Given the description of an element on the screen output the (x, y) to click on. 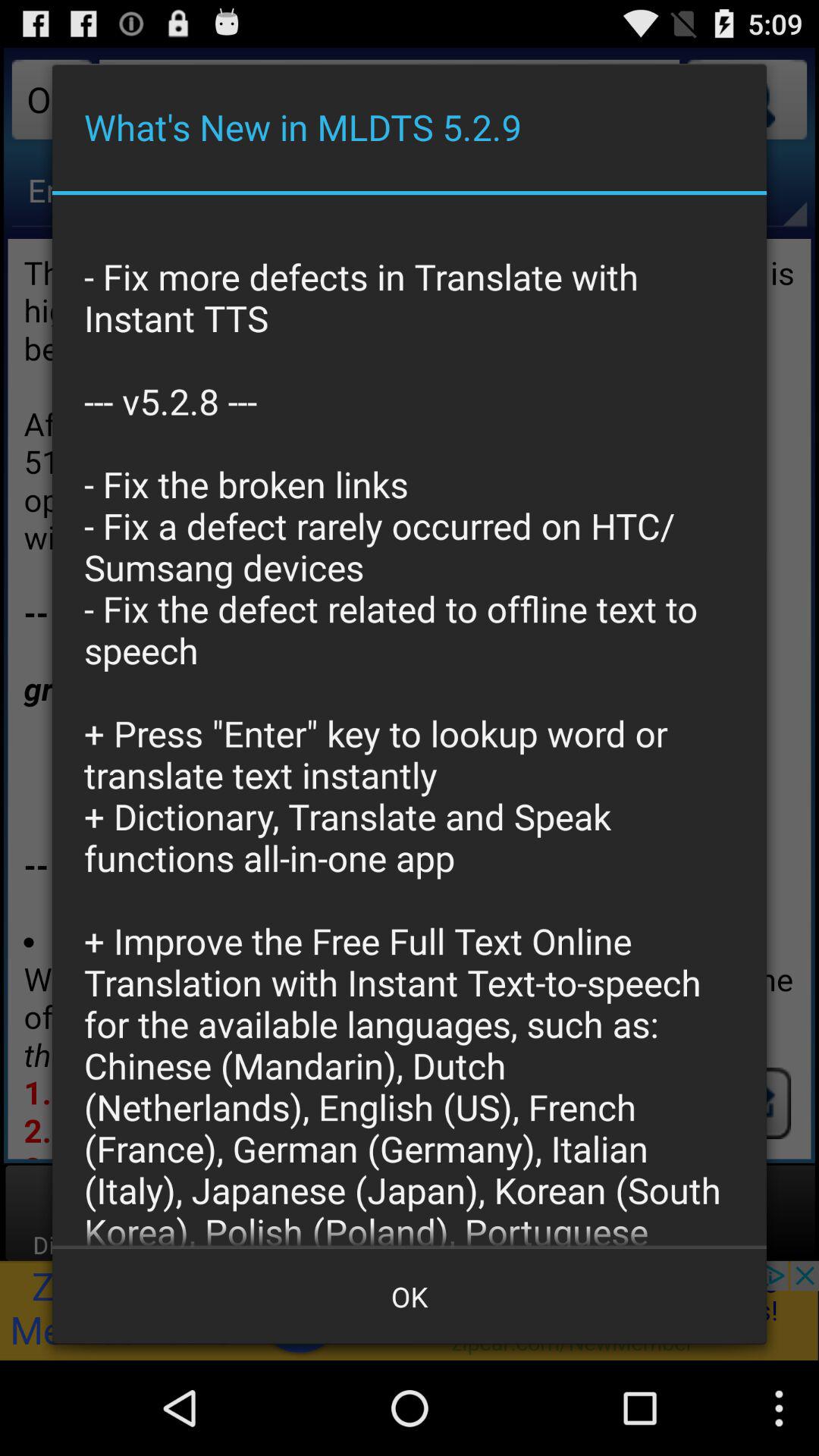
press the item below the fix more defects item (409, 1296)
